Given the description of an element on the screen output the (x, y) to click on. 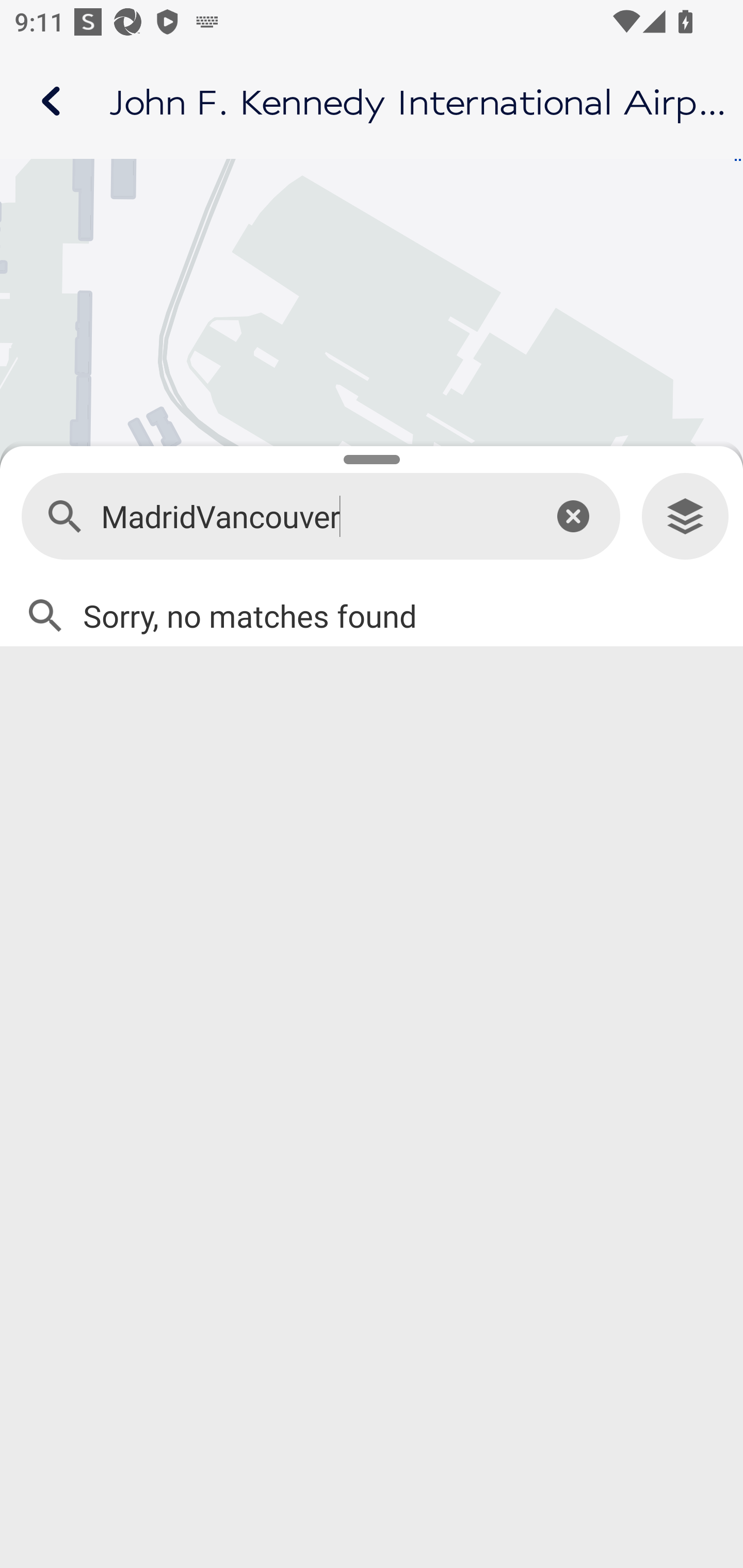
Airport map (371, 100)
MadridVancouver (311, 516)
Levels (684, 516)
This is an icon for clearing the text field. (573, 515)
